Given the description of an element on the screen output the (x, y) to click on. 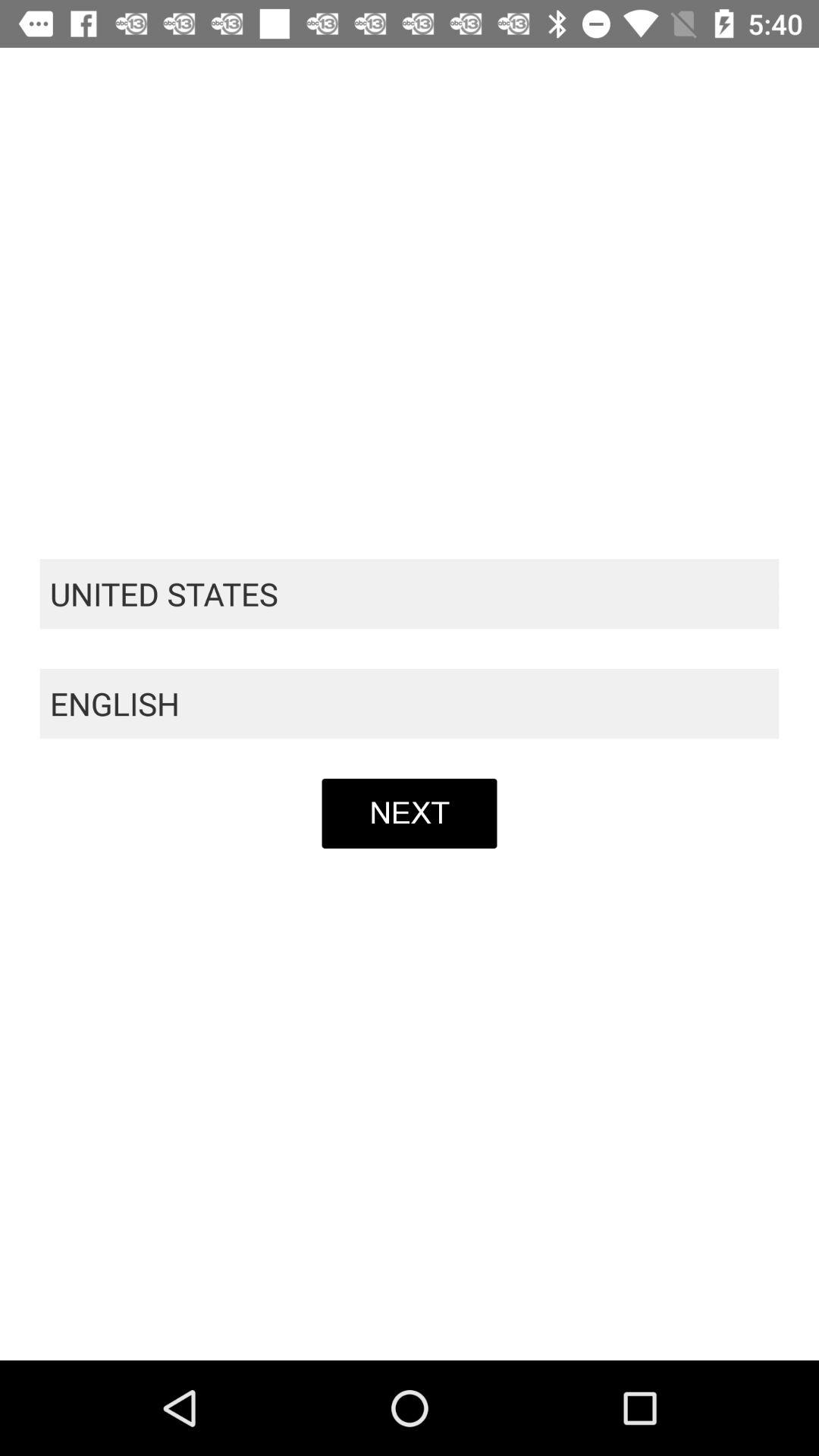
select the item above next icon (409, 703)
